Given the description of an element on the screen output the (x, y) to click on. 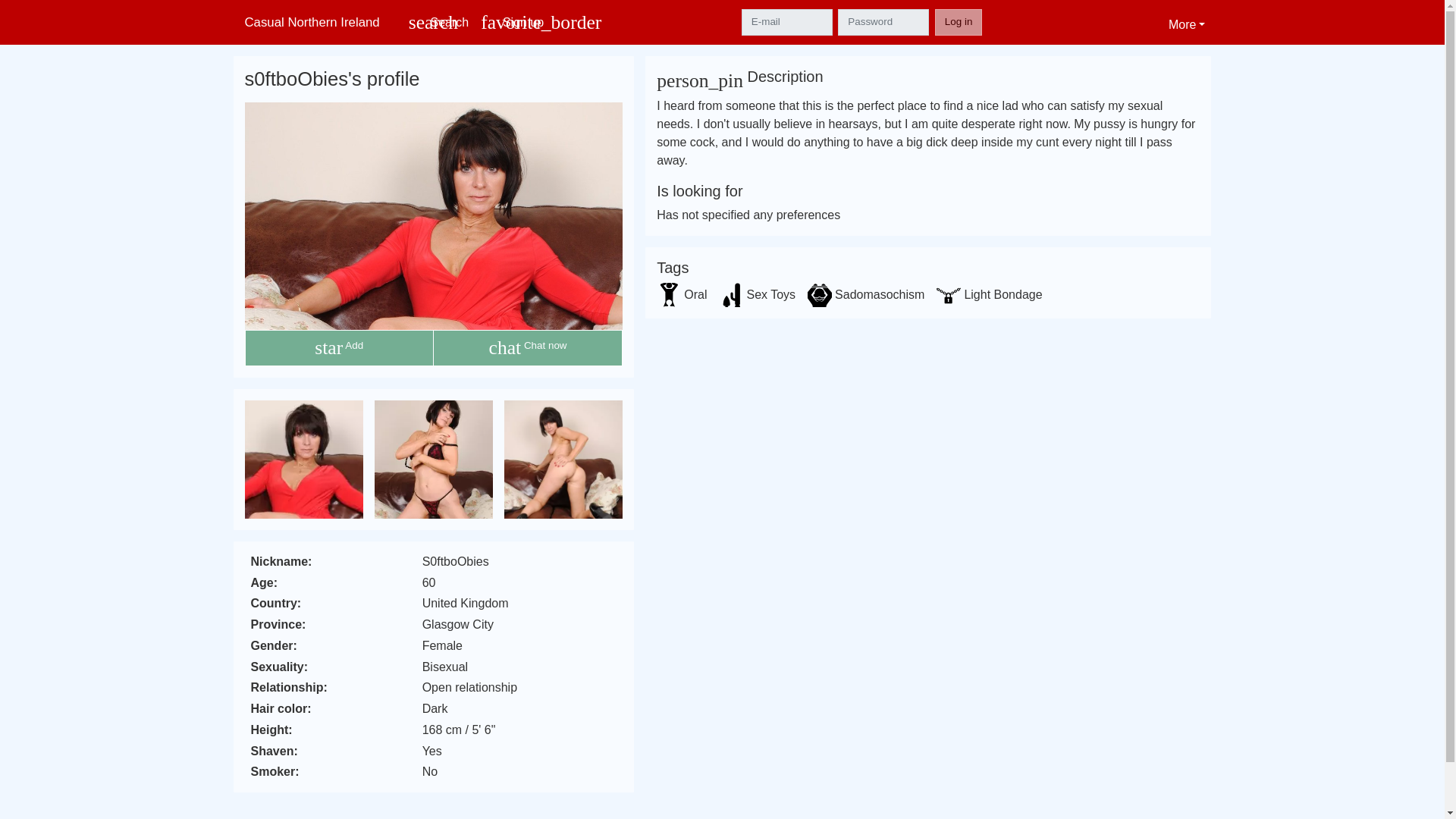
star Add (338, 348)
Casual Northern Ireland (317, 21)
Log in (958, 22)
More (1186, 22)
chat Chat now (528, 348)
